Given the description of an element on the screen output the (x, y) to click on. 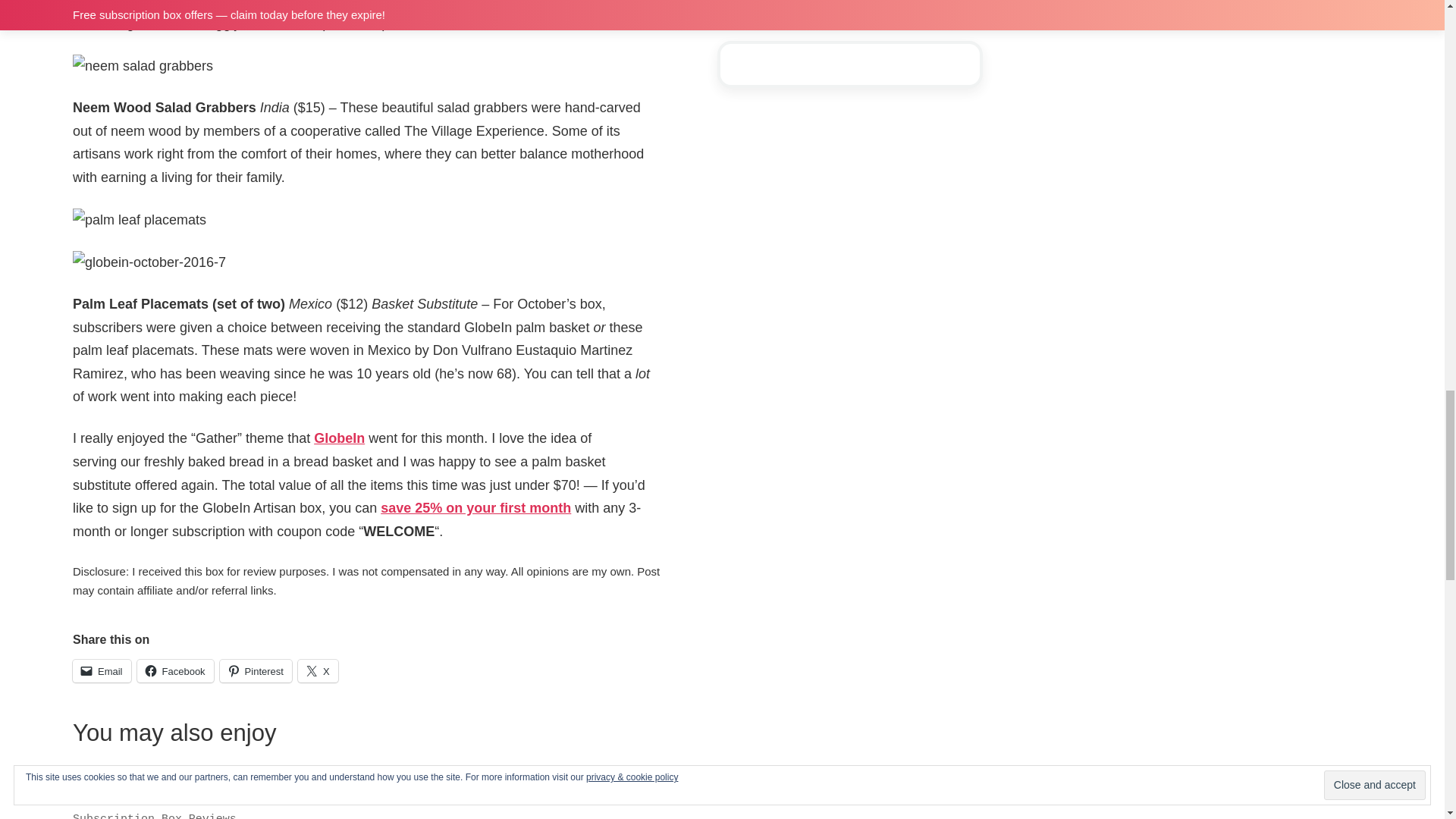
Click to email a link to a friend (101, 671)
Click to share on Facebook (175, 671)
GlobeIn (339, 437)
GlobeIn (339, 437)
Click to share on X (317, 671)
Click to share on Pinterest (255, 671)
Email (101, 671)
